Given the description of an element on the screen output the (x, y) to click on. 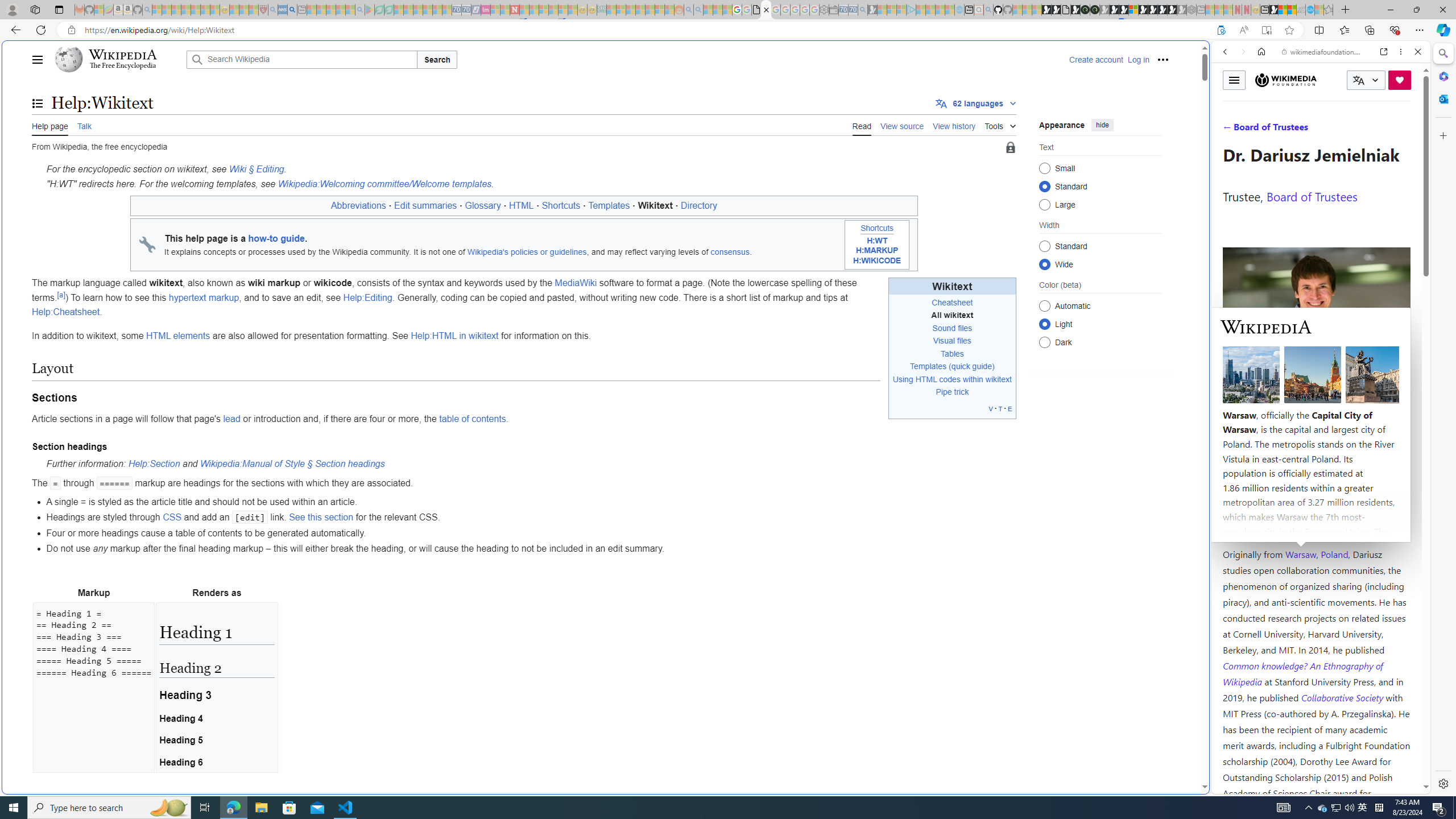
Recipes - MSN - Sleeping (234, 9)
table of contents (472, 418)
Wikipedia The Free Encyclopedia (117, 59)
Play Cave FRVR in your browser | Games from Microsoft Start (1114, 9)
Toggle menu (1233, 80)
Toggle the table of contents (37, 103)
CSS (172, 517)
Search Filter, VIDEOS (1300, 129)
Pets - MSN - Sleeping (340, 9)
Close Customize pane (1442, 135)
Help page (50, 124)
